Given the description of an element on the screen output the (x, y) to click on. 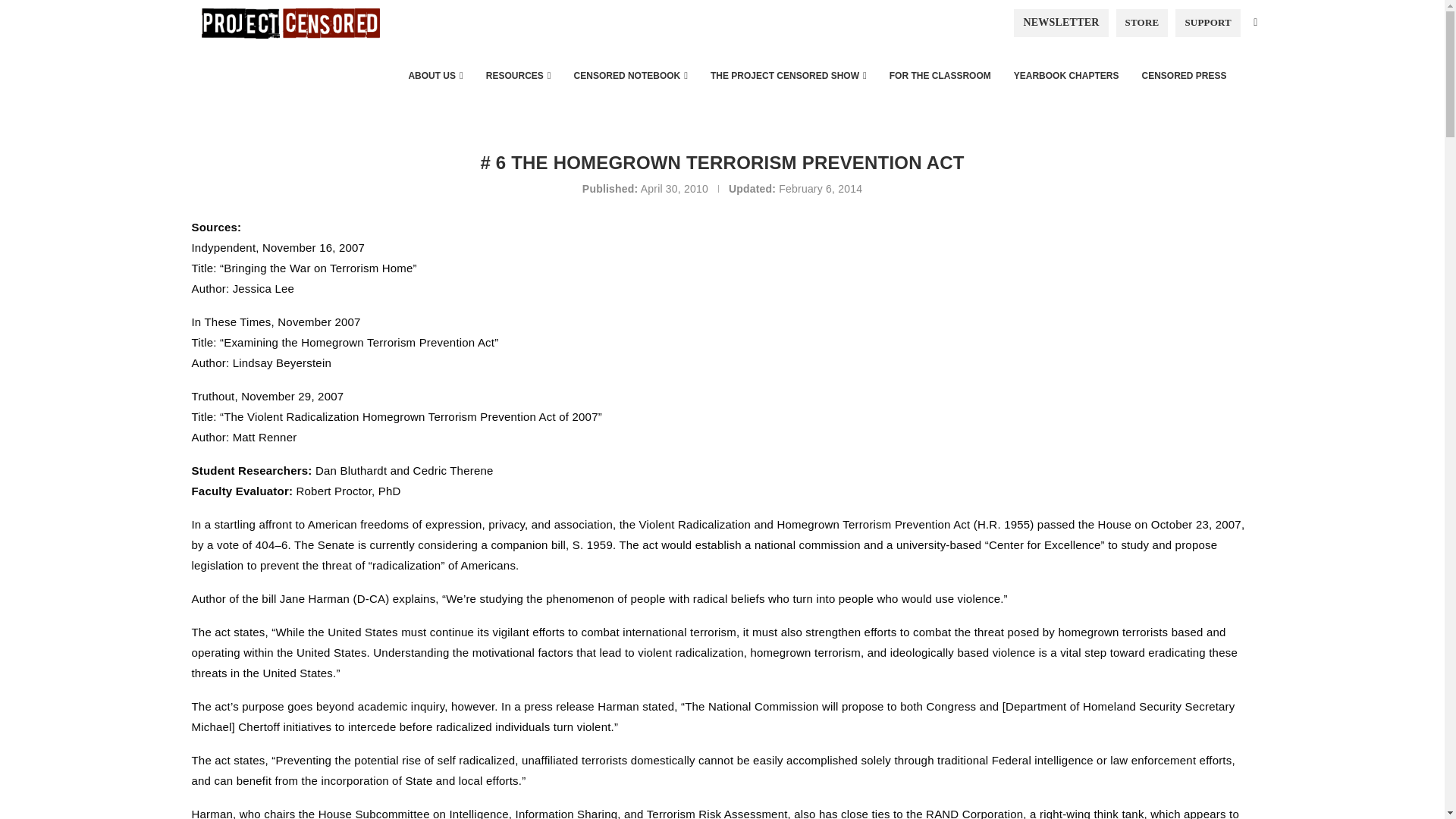
RESOURCES (518, 75)
NEWSLETTER (1060, 22)
ABOUT US (435, 75)
STORE (1142, 22)
SUPPORT (1207, 22)
